Given the description of an element on the screen output the (x, y) to click on. 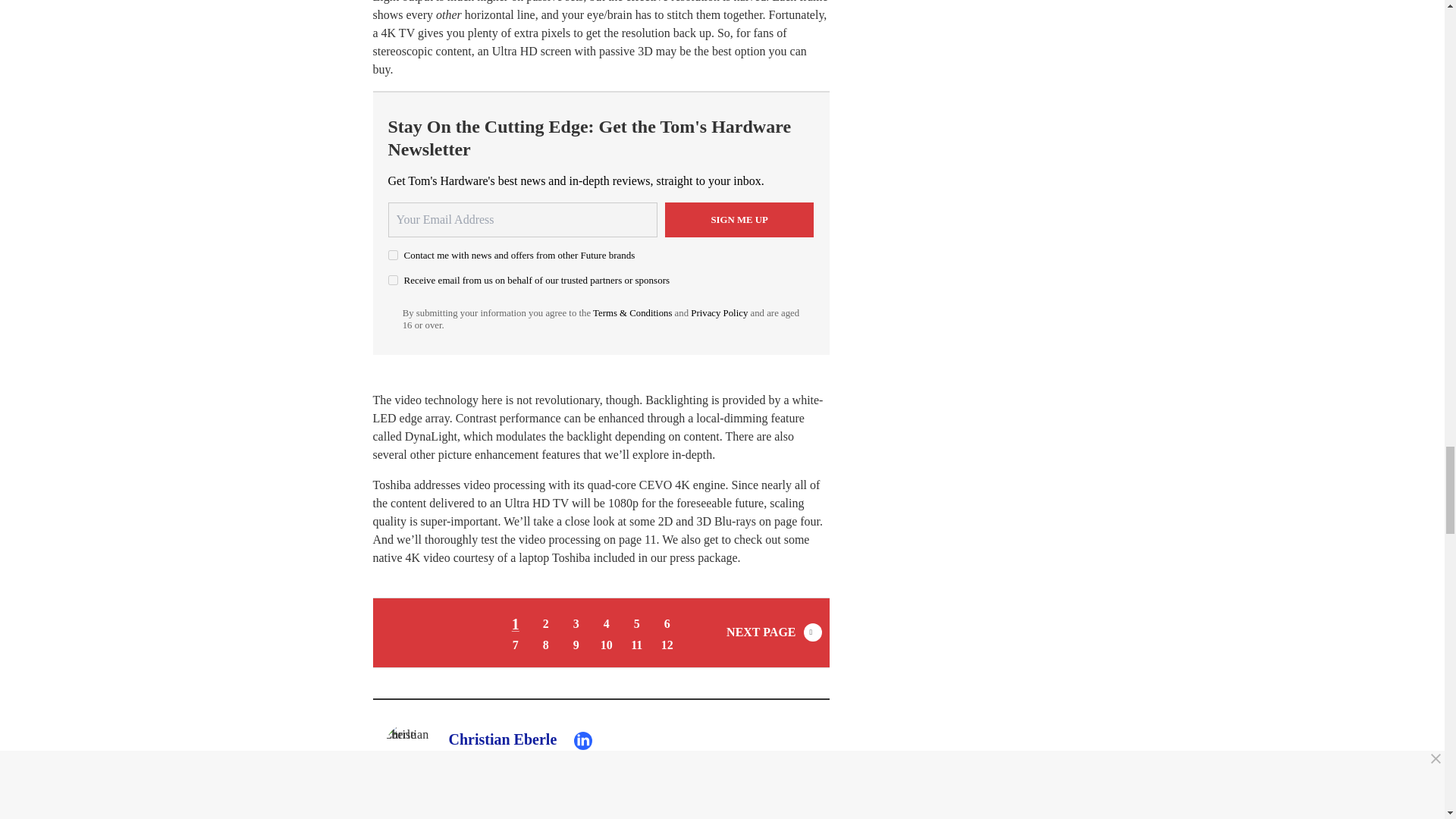
Sign me up (739, 219)
on (392, 255)
on (392, 280)
